Given the description of an element on the screen output the (x, y) to click on. 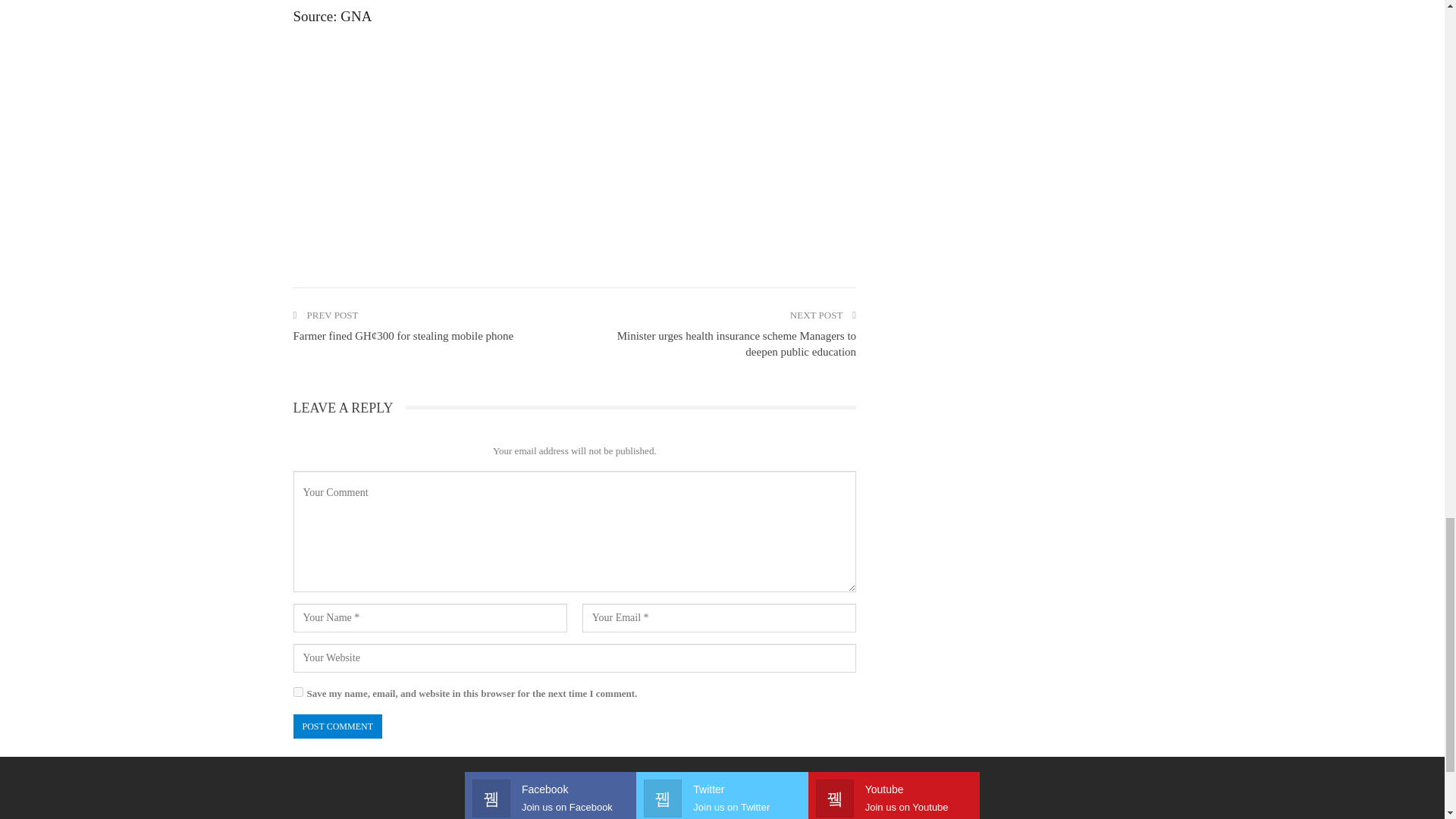
yes (297, 691)
Post Comment (336, 726)
Post Comment (336, 726)
